Given the description of an element on the screen output the (x, y) to click on. 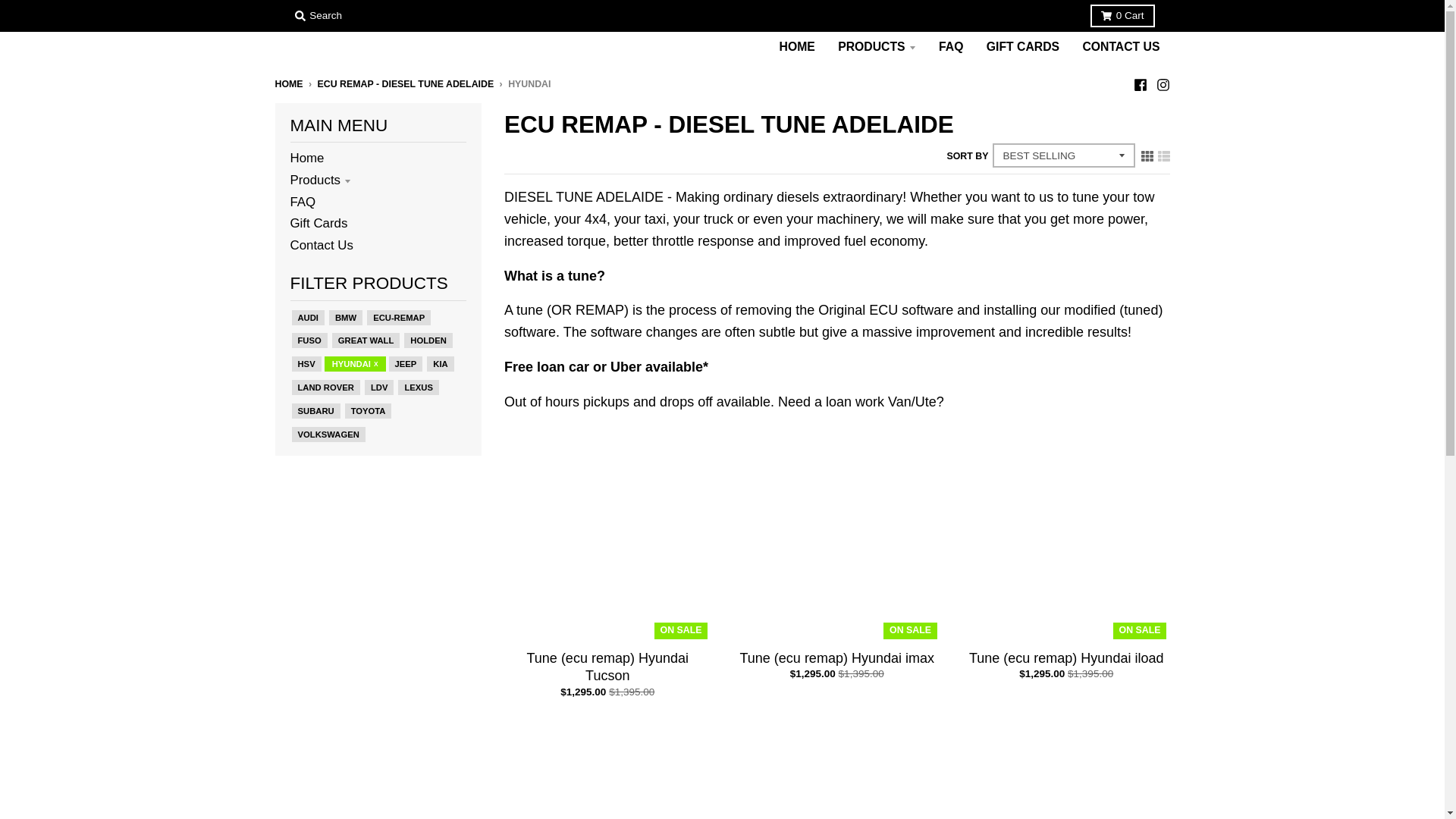
FAQ (950, 46)
PRODUCTS (876, 46)
0 Cart (1122, 15)
CONTACT US (1120, 46)
ECU REMAP - DIESEL TUNE ADELAIDE (406, 83)
HOME (797, 46)
HOME (288, 83)
Instagram - Diesel Tune Adelaide (1162, 83)
Search (317, 15)
GIFT CARDS (1022, 46)
